Given the description of an element on the screen output the (x, y) to click on. 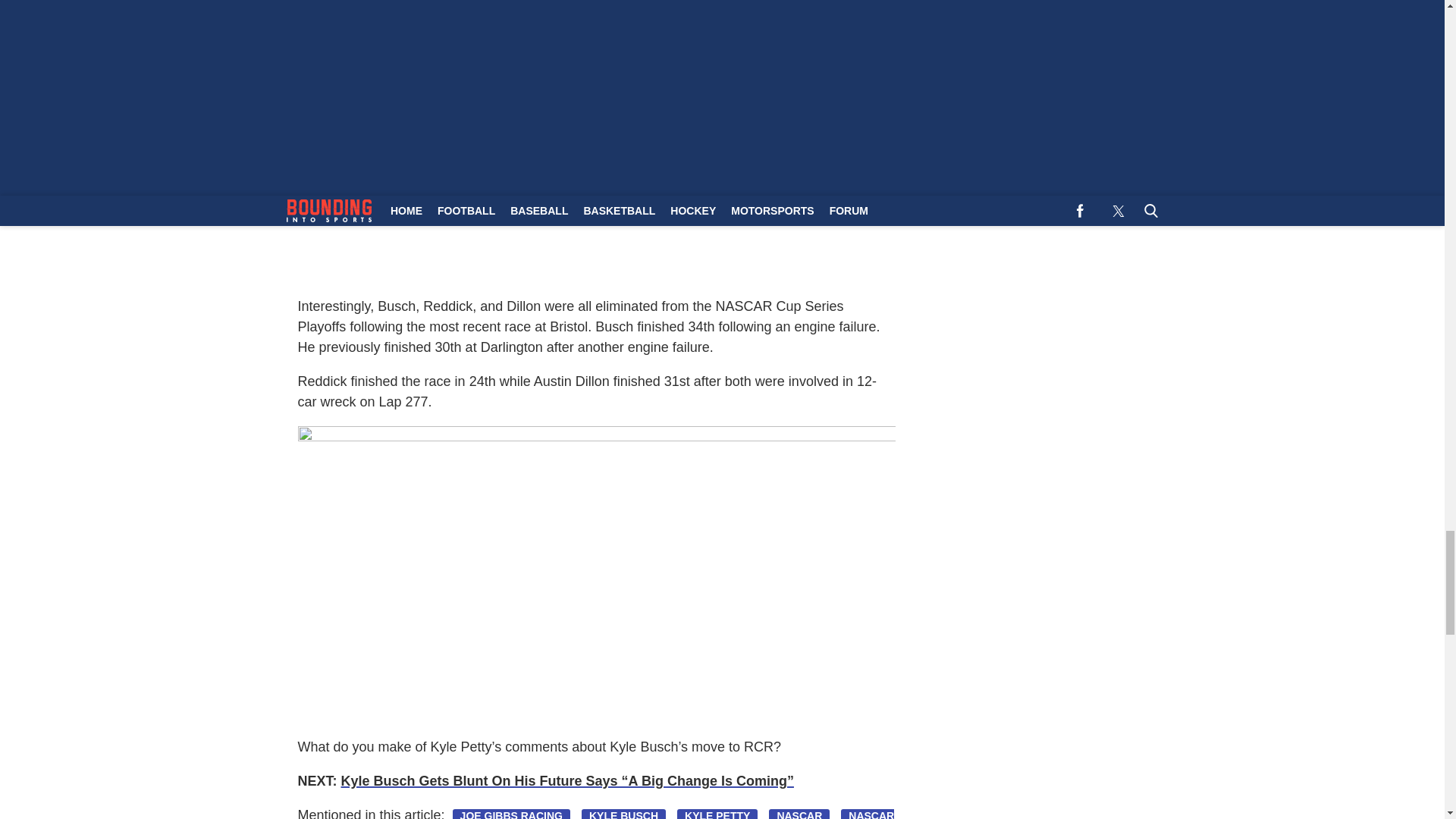
NASCAR (798, 814)
KYLE BUSCH (622, 814)
KYLE PETTY (717, 814)
NASCAR CUP SERIES (595, 814)
JOE GIBBS RACING (511, 814)
